Given the description of an element on the screen output the (x, y) to click on. 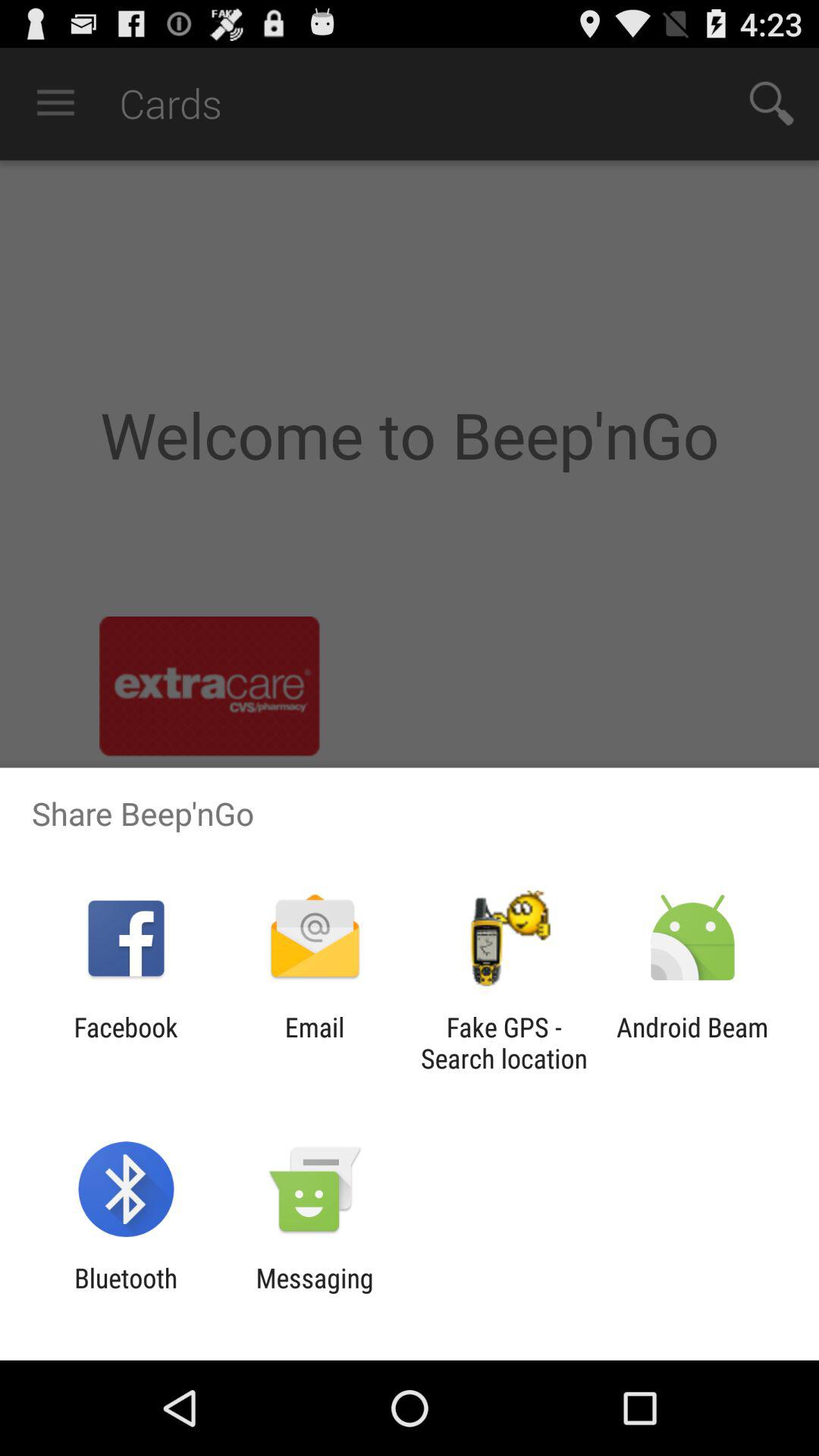
tap item next to the facebook item (314, 1042)
